Given the description of an element on the screen output the (x, y) to click on. 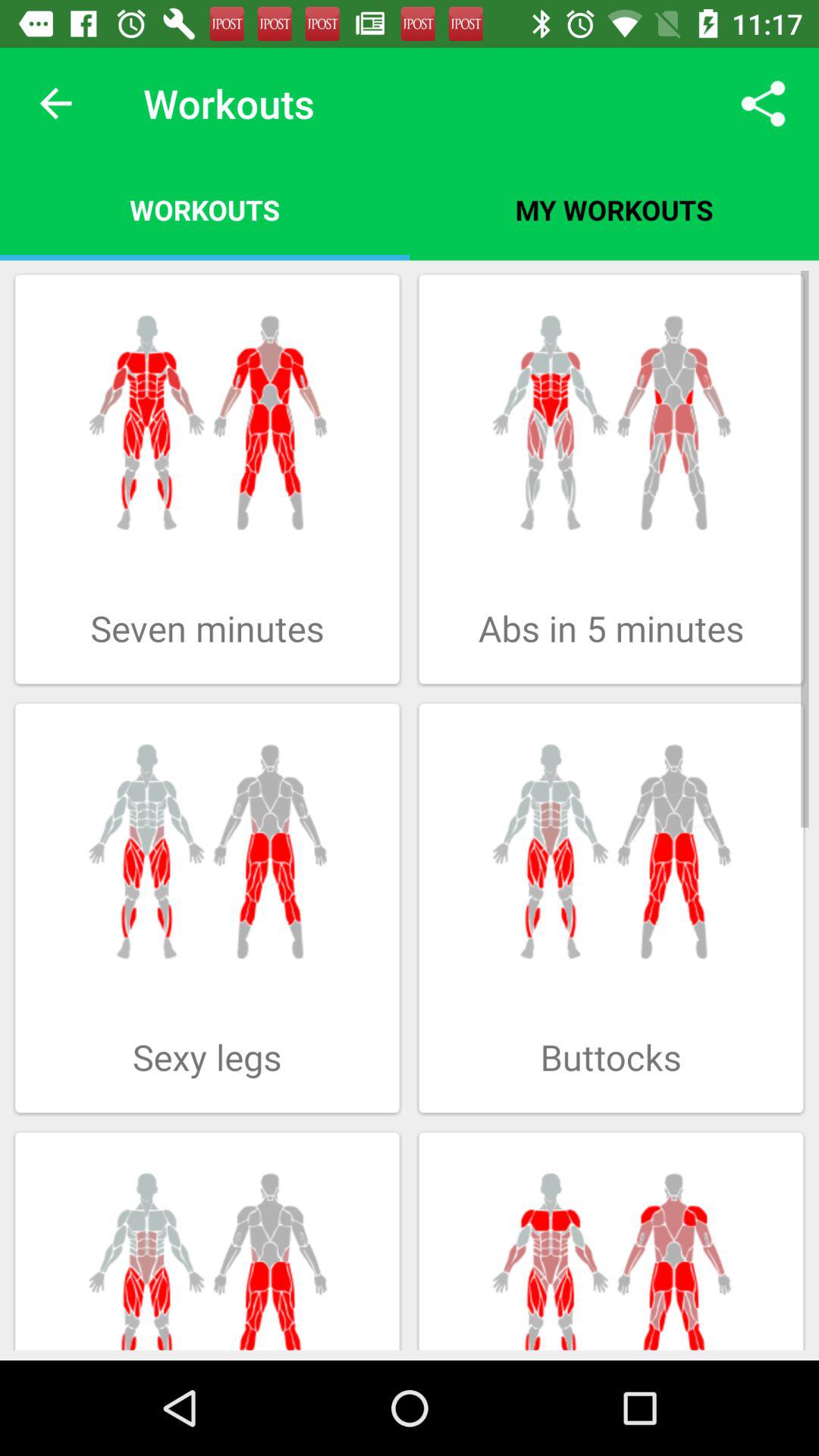
select the app next to the workouts app (763, 103)
